Given the description of an element on the screen output the (x, y) to click on. 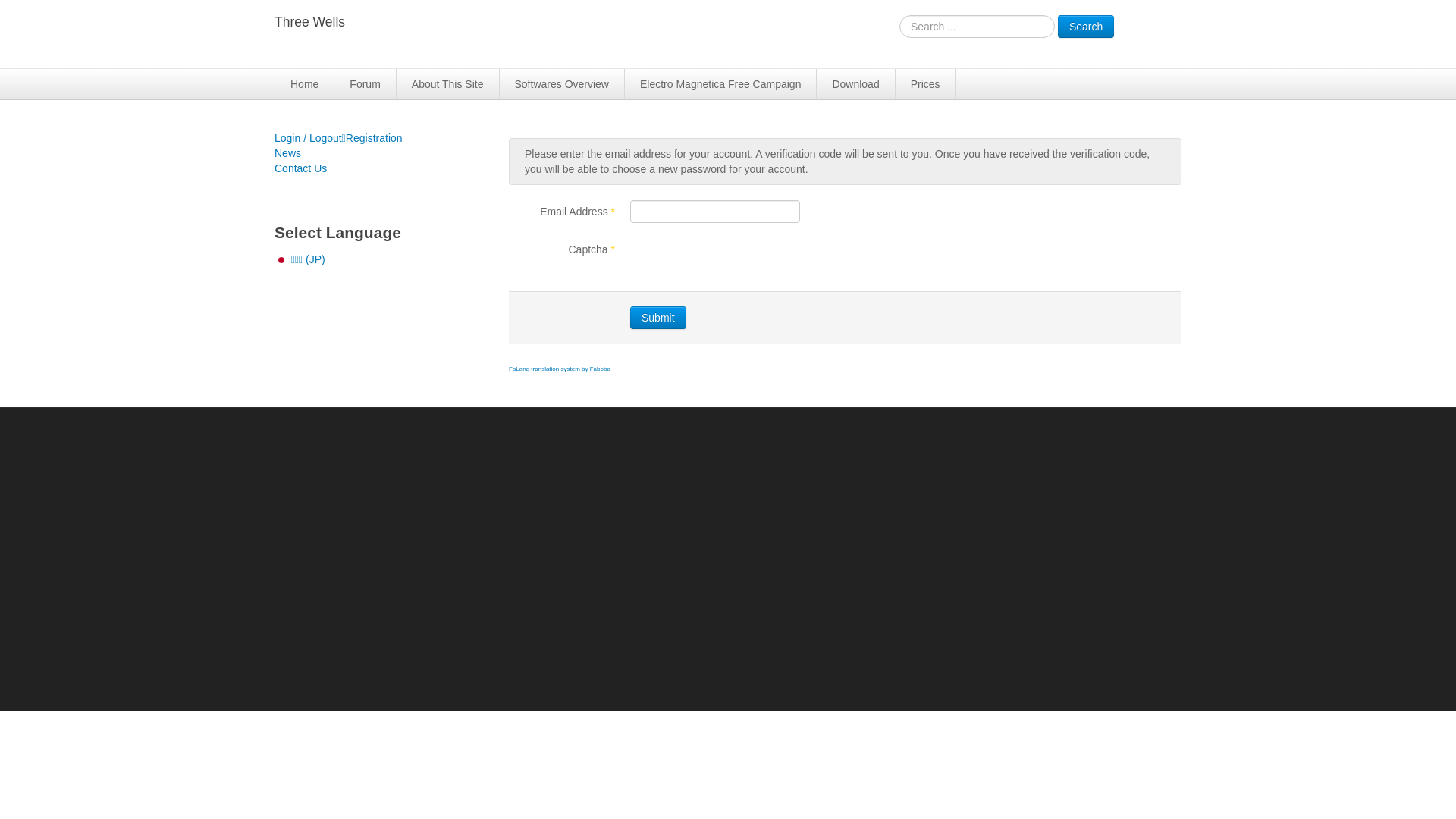
Home Element type: text (304, 84)
Electro Magnetica Free Campaign Element type: text (720, 84)
Submit Element type: text (658, 317)
Prices Element type: text (925, 84)
Softwares Overview Element type: text (561, 84)
About This Site Element type: text (447, 84)
Forum Element type: text (364, 84)
Search Element type: text (1085, 26)
Three Wells Element type: text (309, 22)
Download Element type: text (855, 84)
Advertisement Element type: hover (727, 544)
Contact Us Element type: text (376, 167)
FaLang translation system by Faboba Element type: text (559, 368)
News Element type: text (376, 152)
